Given the description of an element on the screen output the (x, y) to click on. 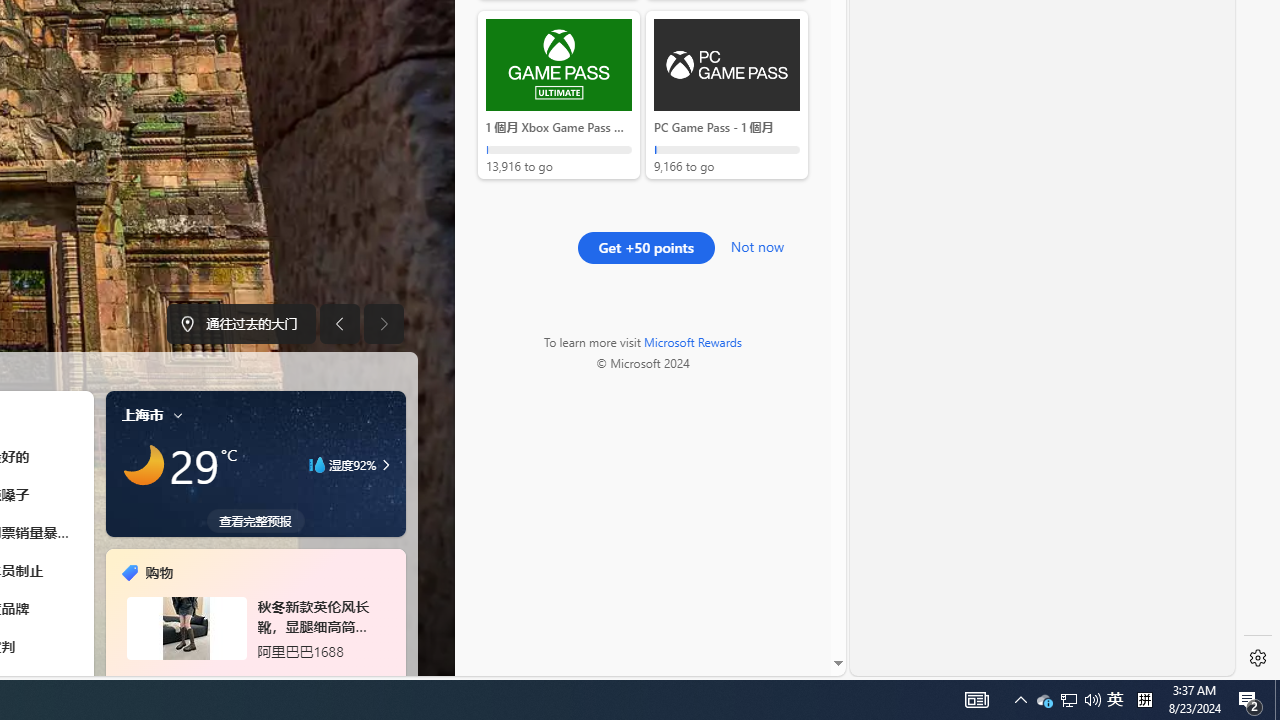
tab-3 (260, 678)
Not now (756, 244)
Microsoft Rewards (692, 341)
Class: icon-img (177, 414)
Next image (383, 323)
Previous image (338, 323)
Class: weather-arrow-glyph (385, 464)
tab-4 (273, 678)
